Given the description of an element on the screen output the (x, y) to click on. 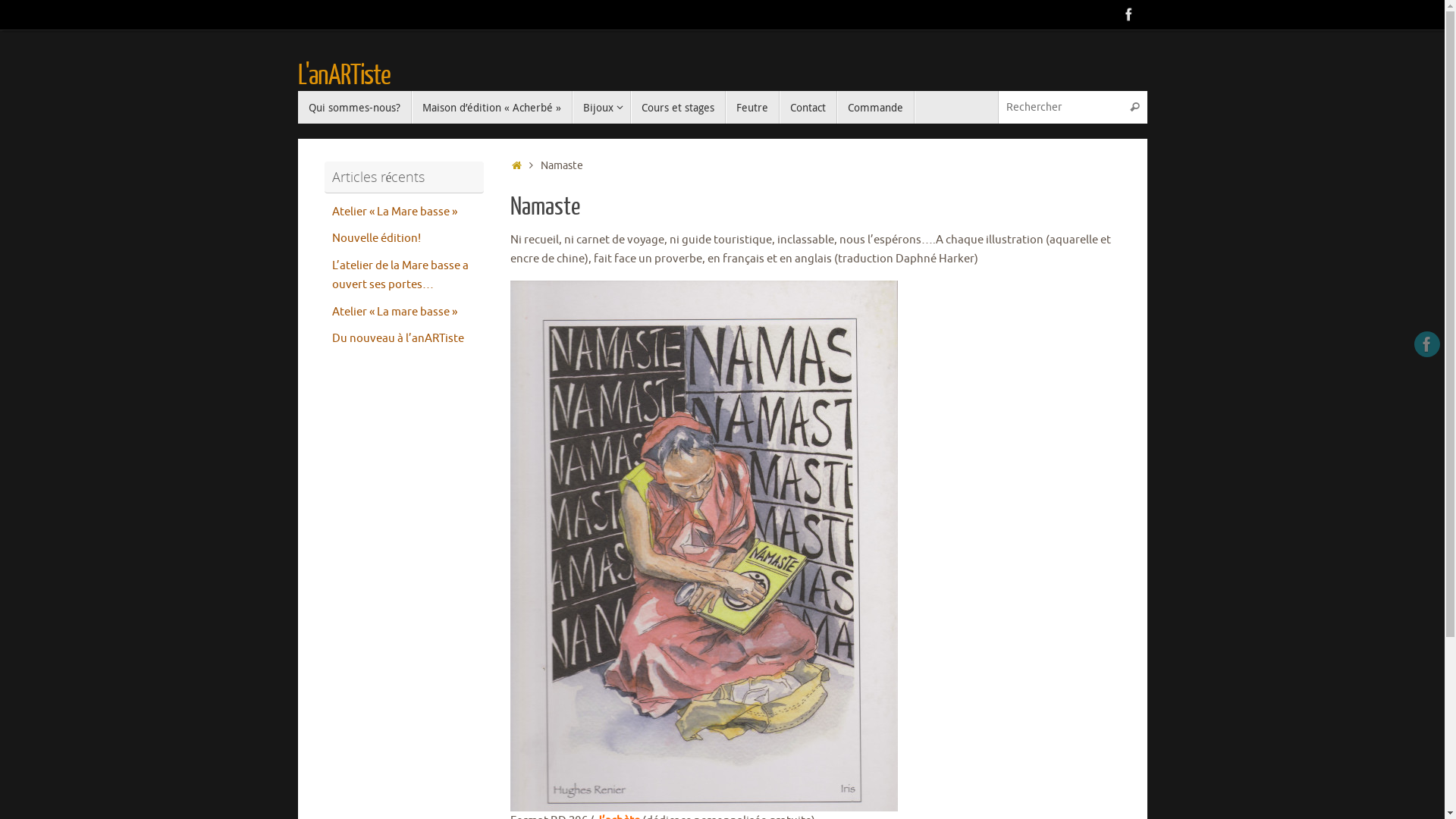
Facebook Element type: hover (1427, 344)
Bijoux Element type: text (600, 107)
Cours et stages Element type: text (677, 107)
Feutre Element type: text (752, 107)
Qui sommes-nous? Element type: text (354, 107)
Commande Element type: text (875, 107)
Passer au contenu Element type: text (297, 114)
Accueil Element type: text (516, 165)
Contact Element type: text (808, 107)
L'anARTiste Element type: text (343, 76)
Facebook Element type: hover (1128, 14)
Rechercher Element type: text (1135, 107)
